Given the description of an element on the screen output the (x, y) to click on. 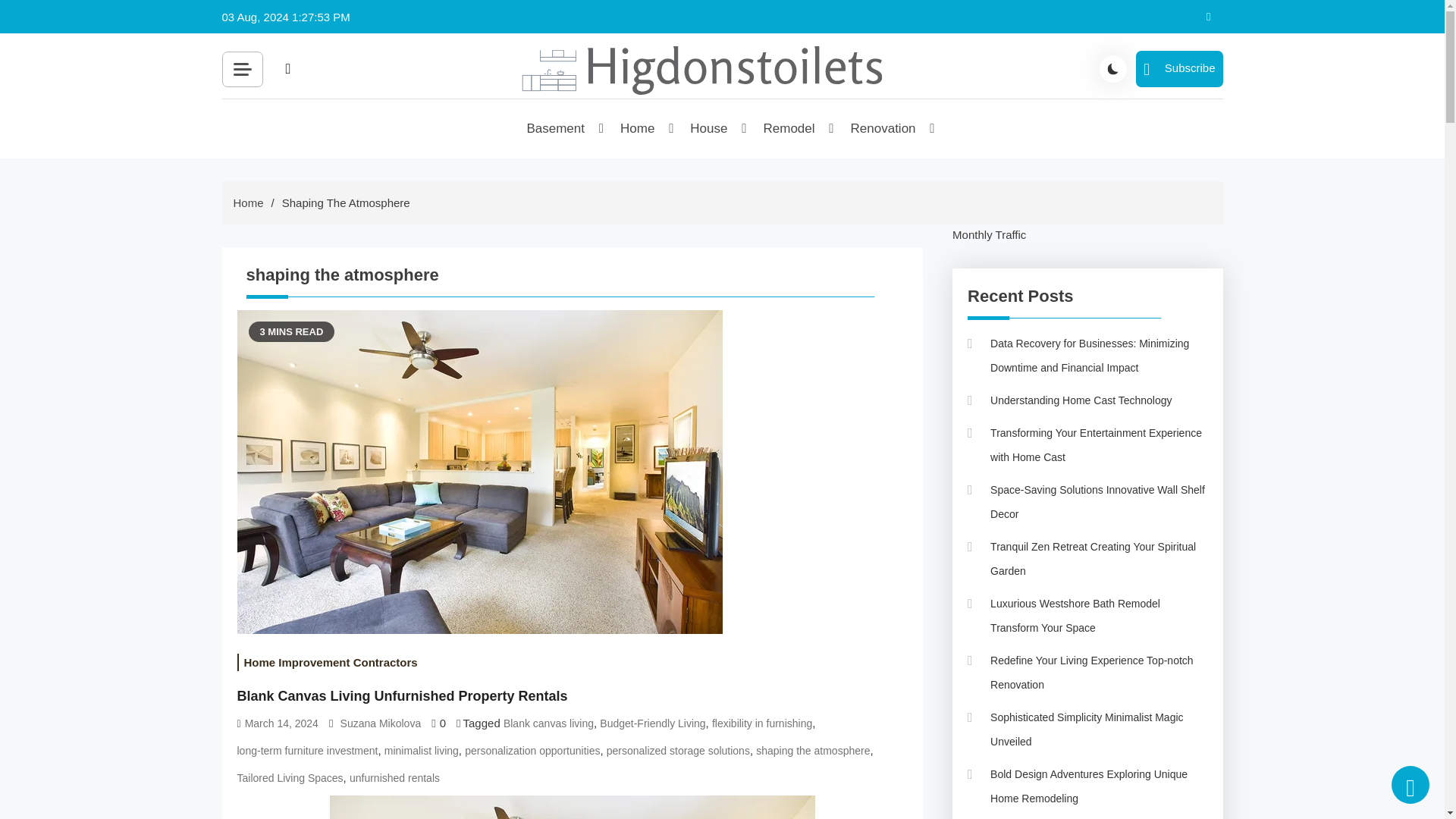
Home (638, 128)
Subscribe (1179, 68)
site mode button (1112, 68)
Renovation (884, 128)
Basement (556, 128)
Blank Canvas Living Unfurnished Property Rentals (571, 807)
Higdonstoilets (608, 118)
House (708, 128)
Remodel (788, 128)
Search (458, 103)
